Given the description of an element on the screen output the (x, y) to click on. 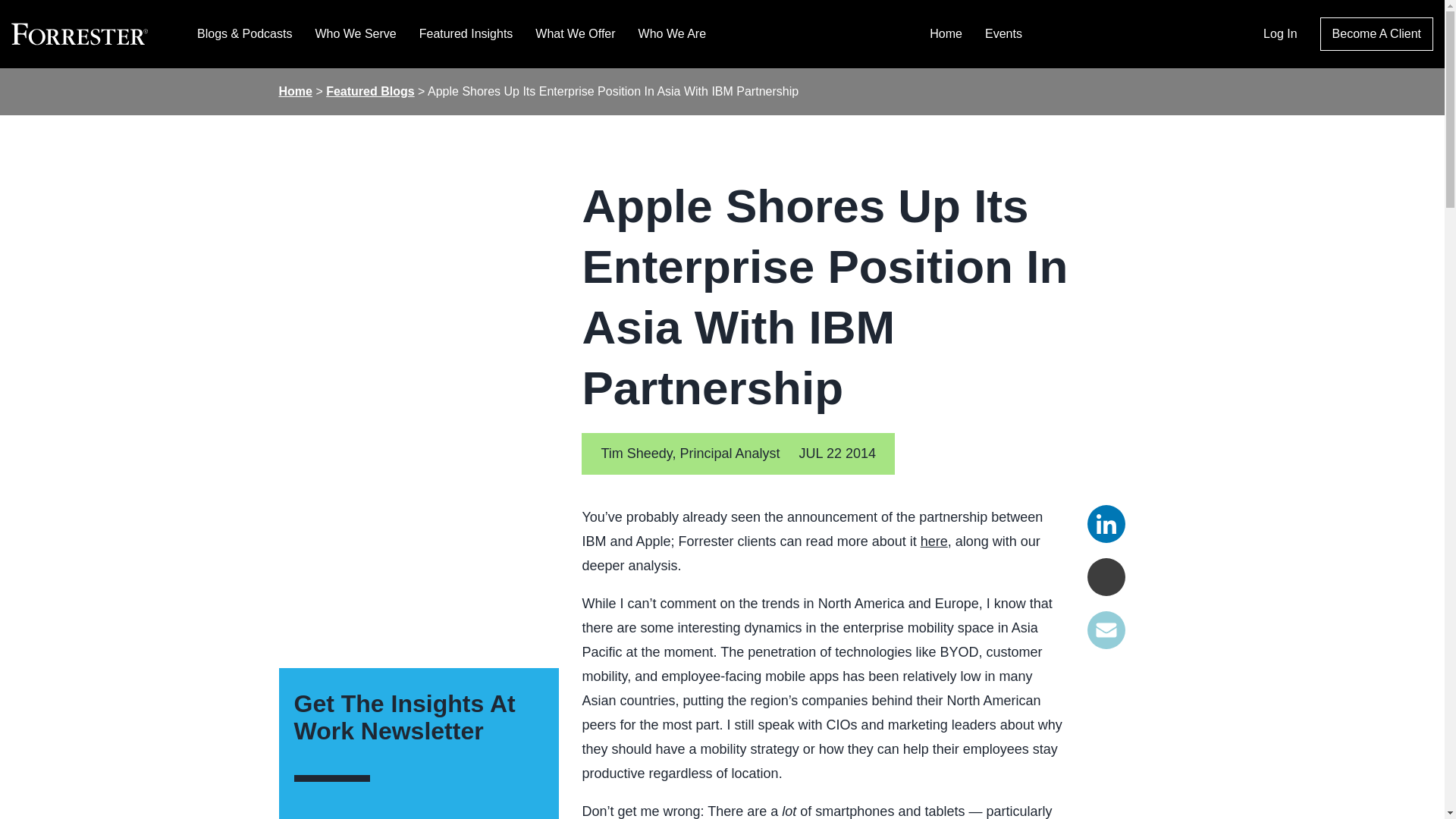
Who We Serve (355, 33)
Featured Insights (466, 33)
What We Offer (574, 33)
